Given the description of an element on the screen output the (x, y) to click on. 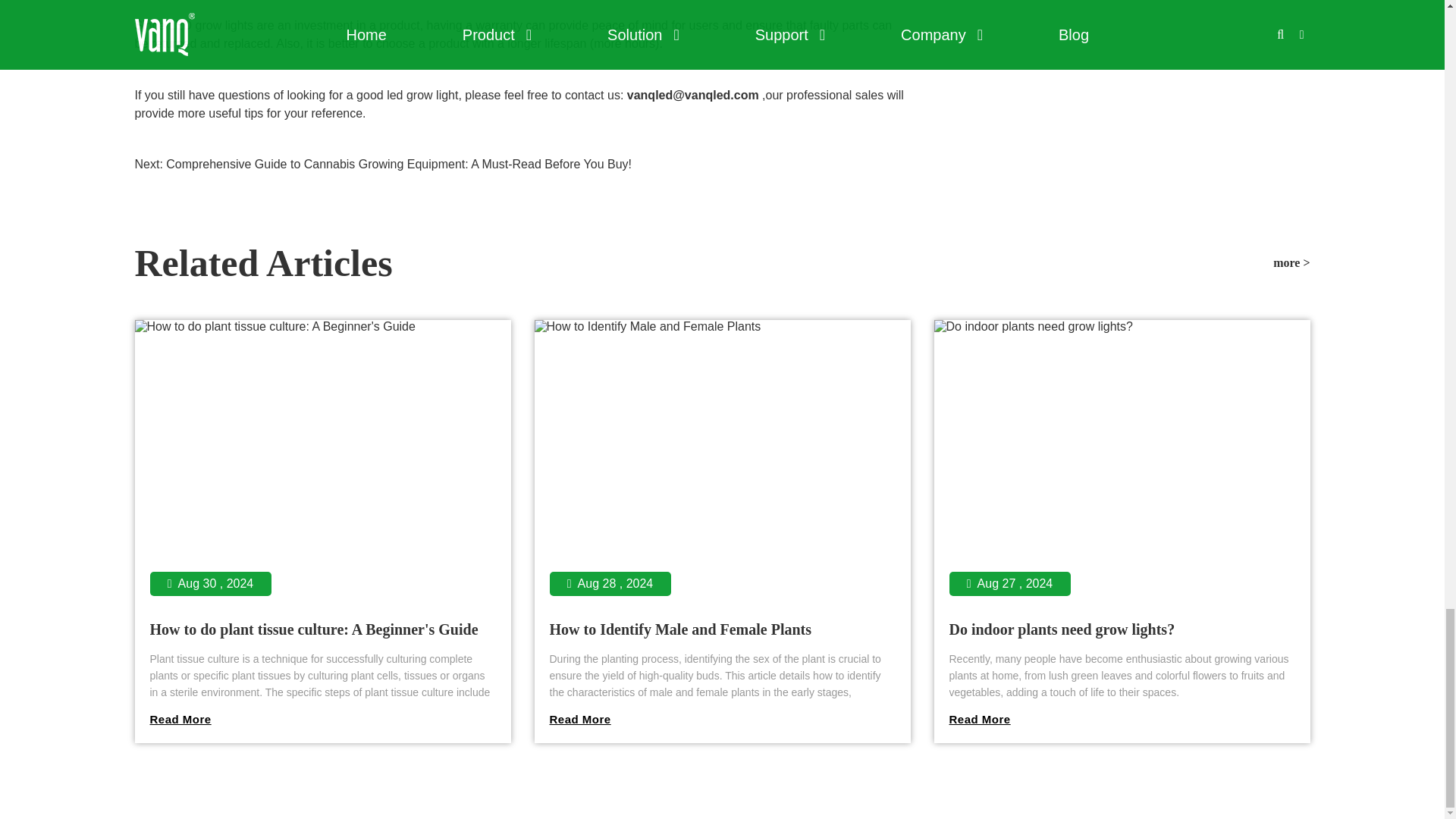
How to do plant tissue culture: A Beginner's Guide (314, 629)
How to do plant tissue culture: A Beginner's Guide (322, 719)
Do indoor plants need grow lights? (1061, 629)
How to Identify Male and Female Plants (721, 719)
How to Identify Male and Female Plants (679, 629)
Do indoor plants need grow lights? (1122, 719)
